Given the description of an element on the screen output the (x, y) to click on. 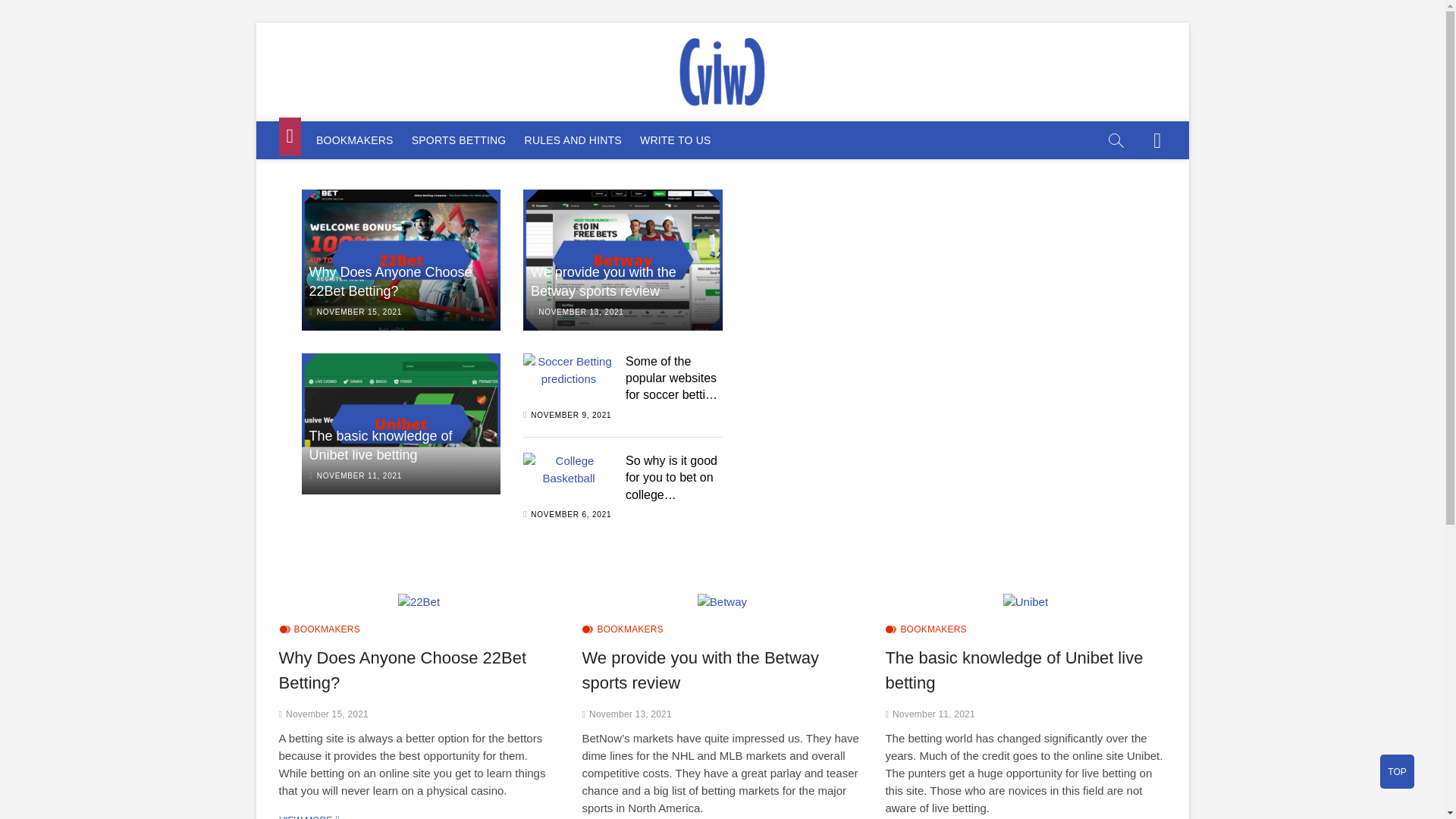
RULES AND HINTS (572, 139)
BOOKMAKERS (354, 139)
WRITE TO US (674, 139)
SPORTS BETTING (458, 139)
